Given the description of an element on the screen output the (x, y) to click on. 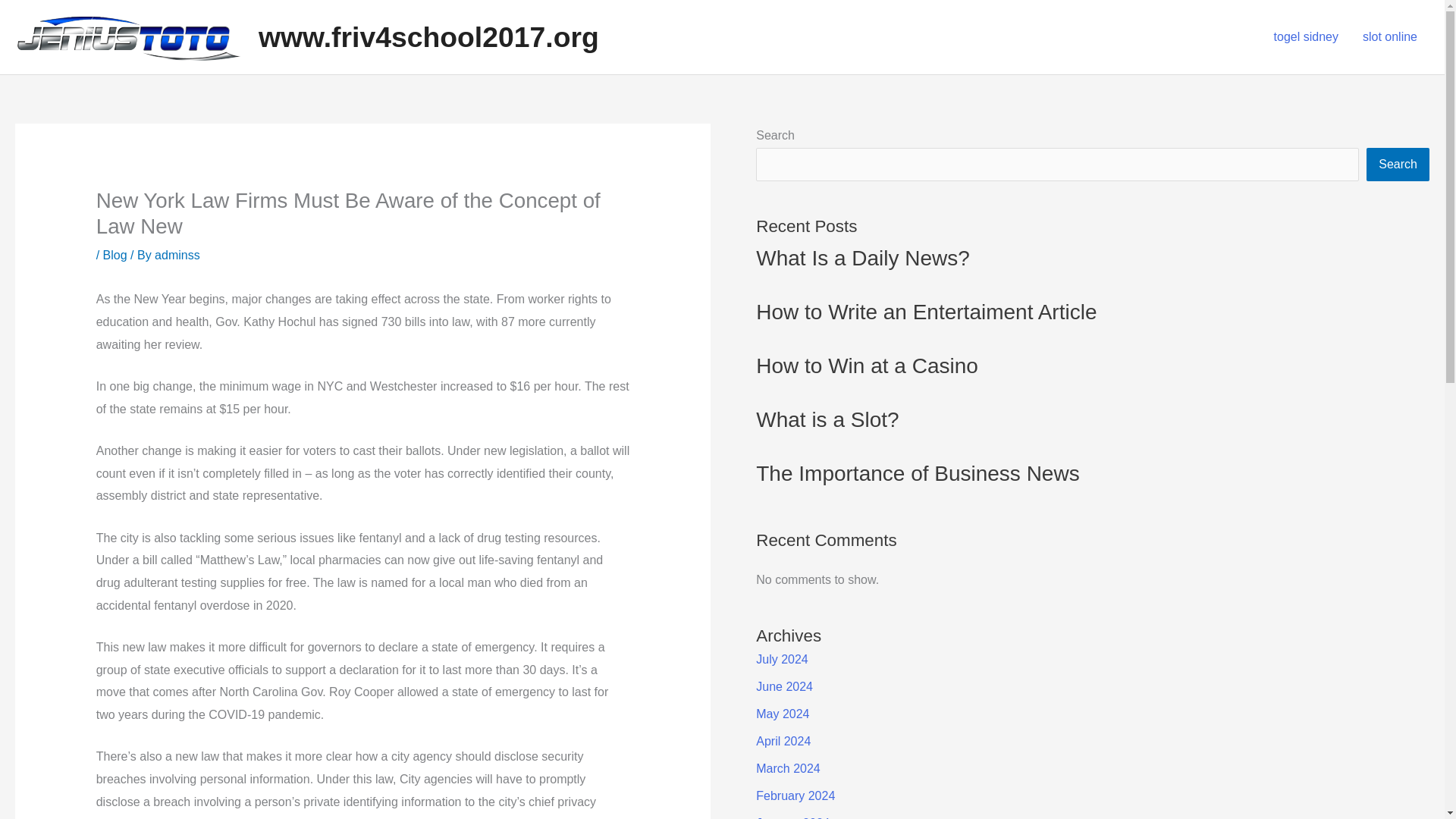
July 2024 (781, 658)
Search (1398, 164)
May 2024 (782, 713)
What Is a Daily News? (862, 258)
slot online (1390, 36)
How to Write an Entertaiment Article (925, 311)
February 2024 (794, 795)
What is a Slot? (826, 419)
adminss (177, 254)
View all posts by adminss (177, 254)
www.friv4school2017.org (428, 37)
April 2024 (782, 740)
January 2024 (792, 817)
Blog (115, 254)
March 2024 (788, 768)
